Given the description of an element on the screen output the (x, y) to click on. 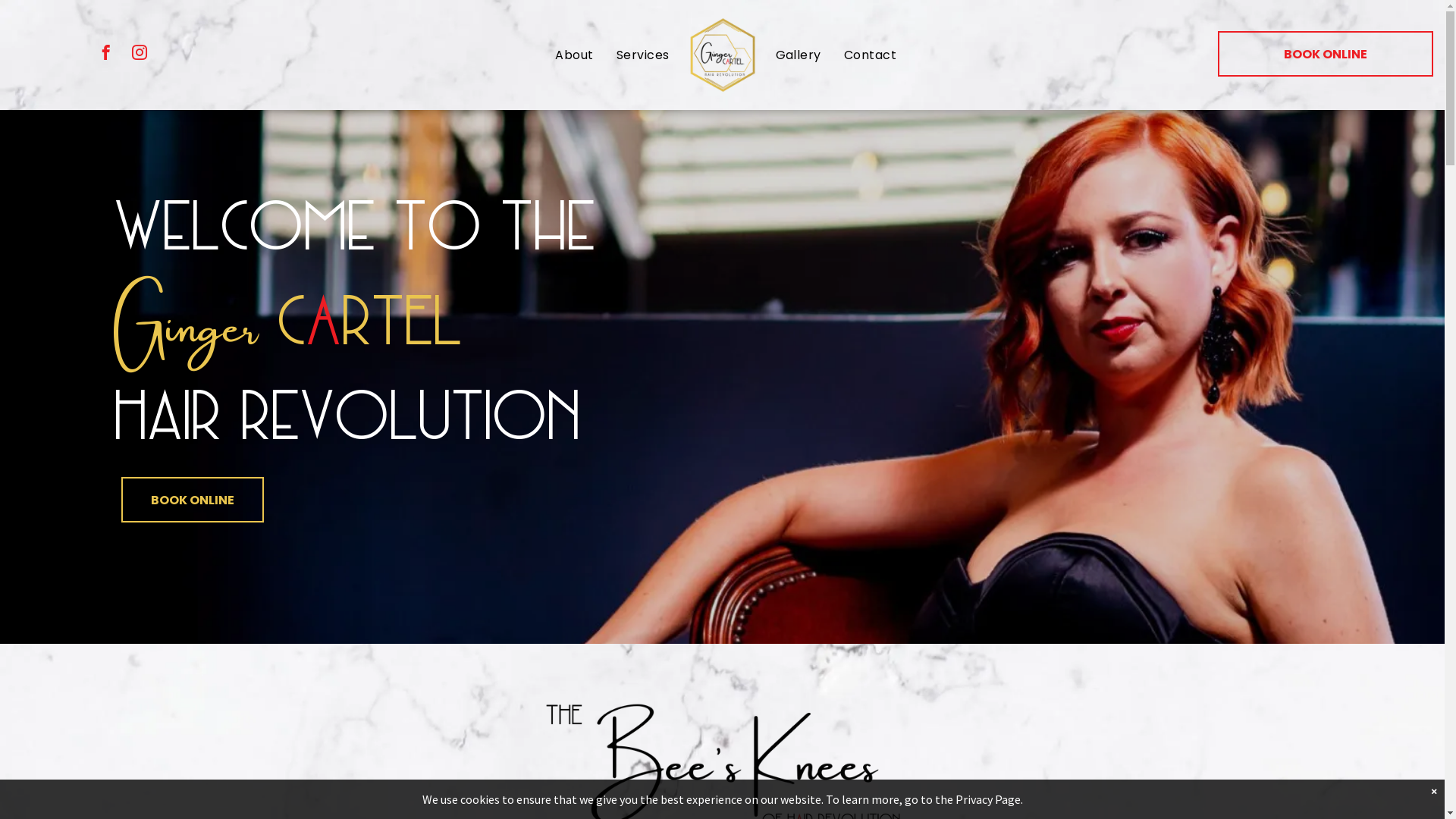
BOOK ONLINE Element type: text (1325, 53)
Contact Element type: text (869, 54)
Gallery Element type: text (798, 54)
Services Element type: text (642, 54)
About Element type: text (573, 54)
BOOK ONLINE Element type: text (192, 499)
